Given the description of an element on the screen output the (x, y) to click on. 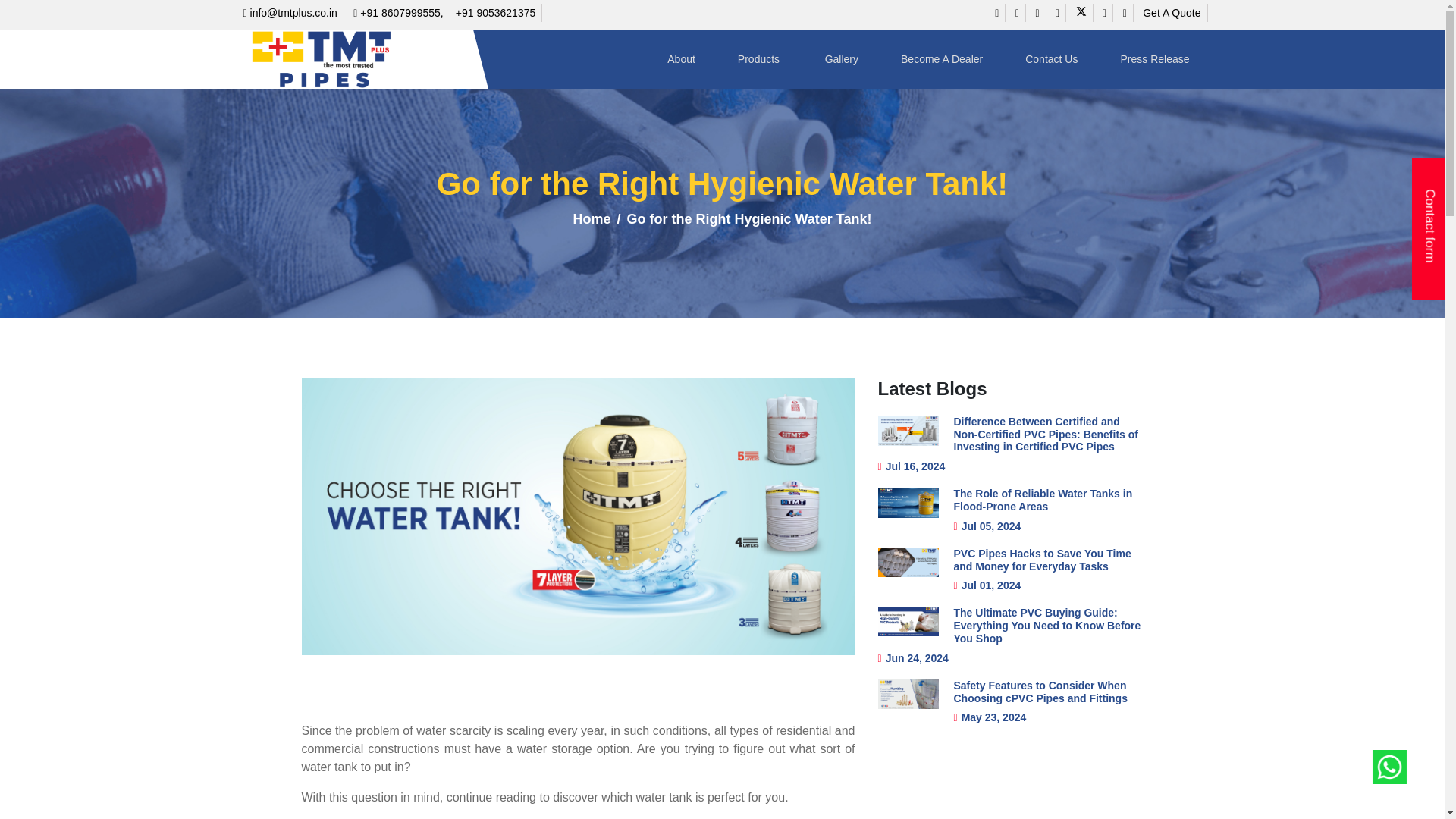
About (681, 59)
Products (760, 59)
Get A Quote (1172, 13)
Rufers (333, 59)
